Given the description of an element on the screen output the (x, y) to click on. 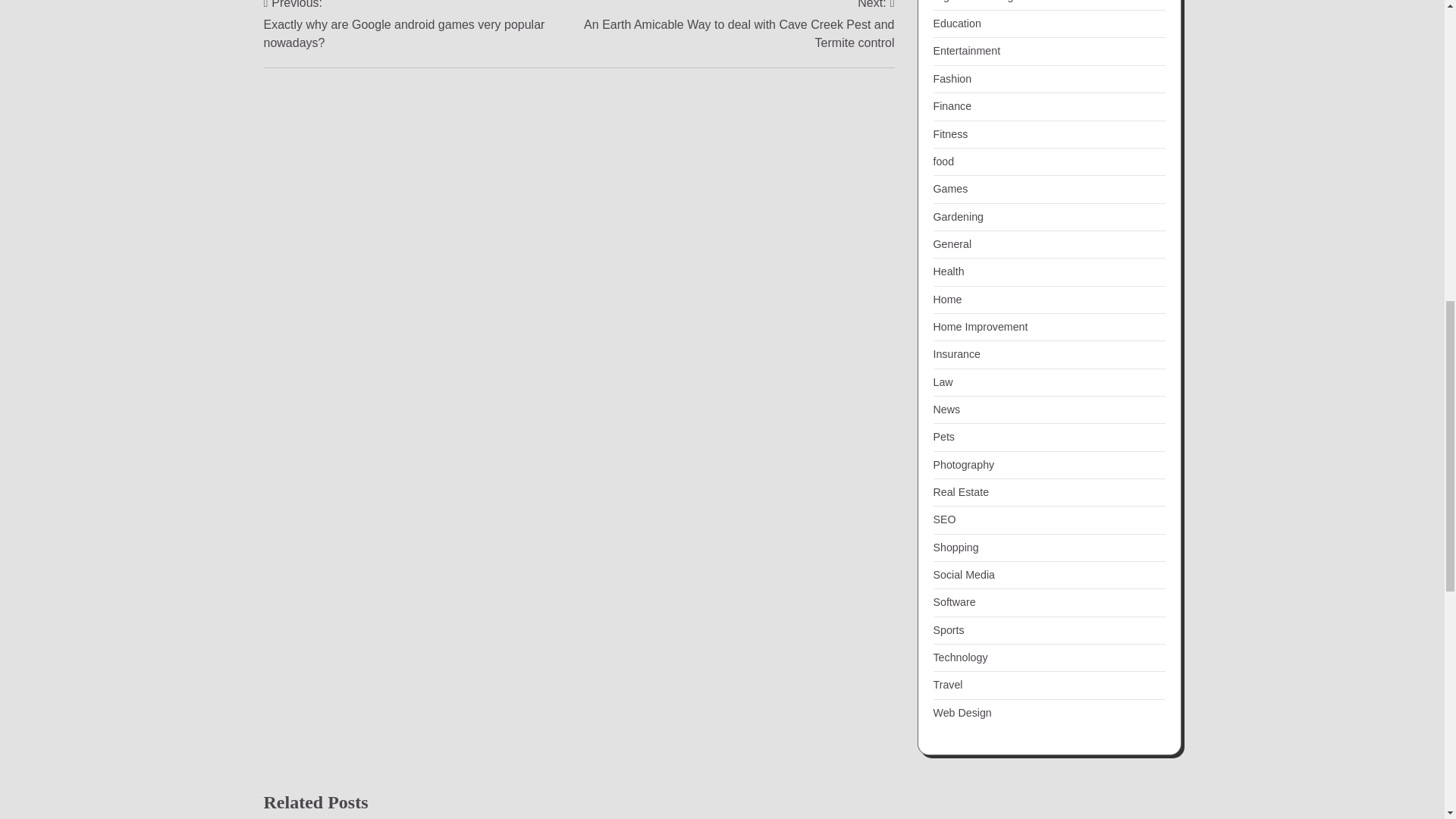
General (952, 244)
food (943, 161)
Health (948, 271)
Home Improvement (980, 326)
Finance (952, 105)
Entertainment (966, 50)
News (946, 409)
Law (942, 381)
Gardening (957, 216)
Fitness (950, 133)
Education (956, 23)
Games (950, 188)
Digital Marketing (973, 1)
